Given the description of an element on the screen output the (x, y) to click on. 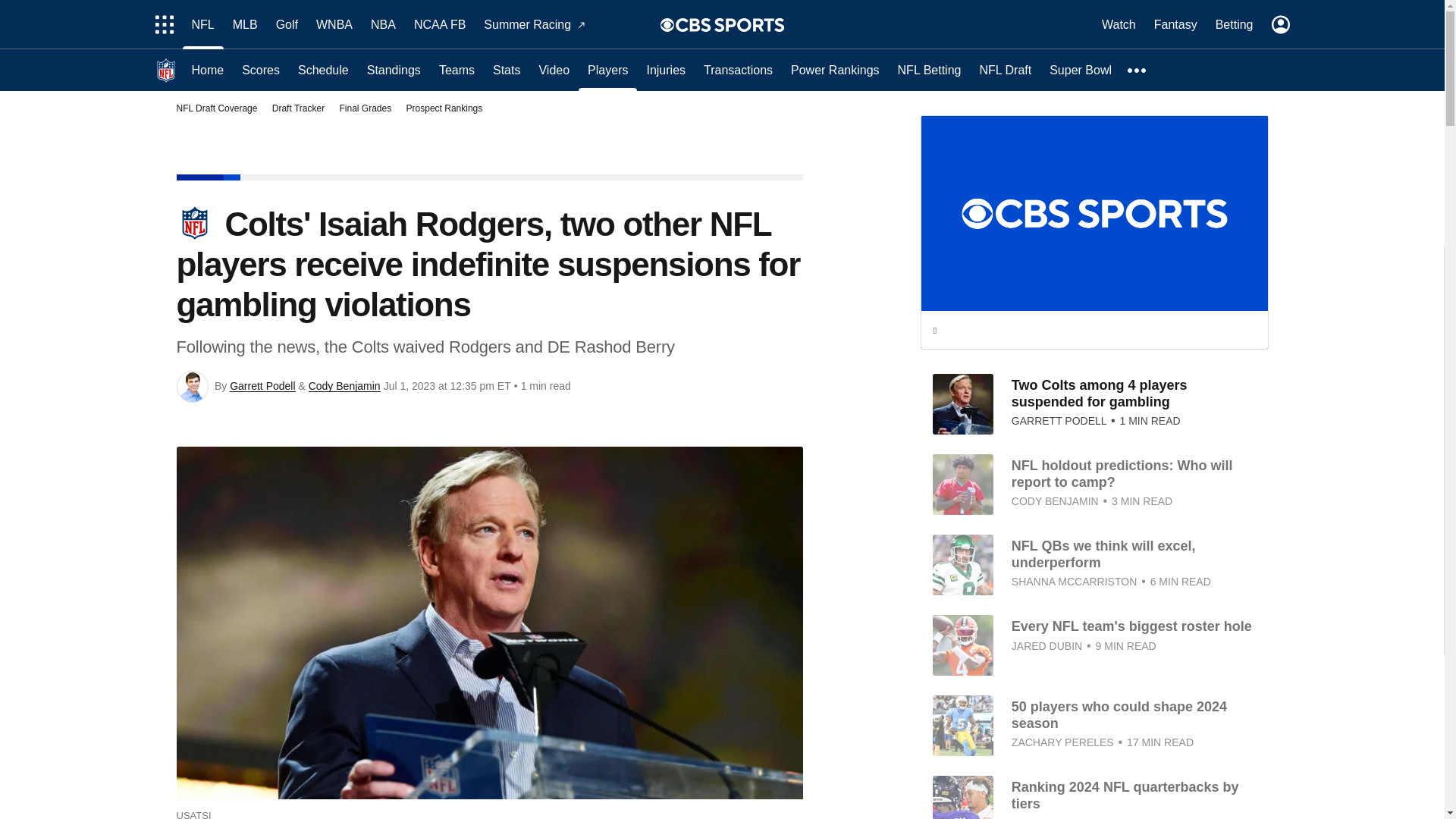
CBS Eye (667, 24)
